Given the description of an element on the screen output the (x, y) to click on. 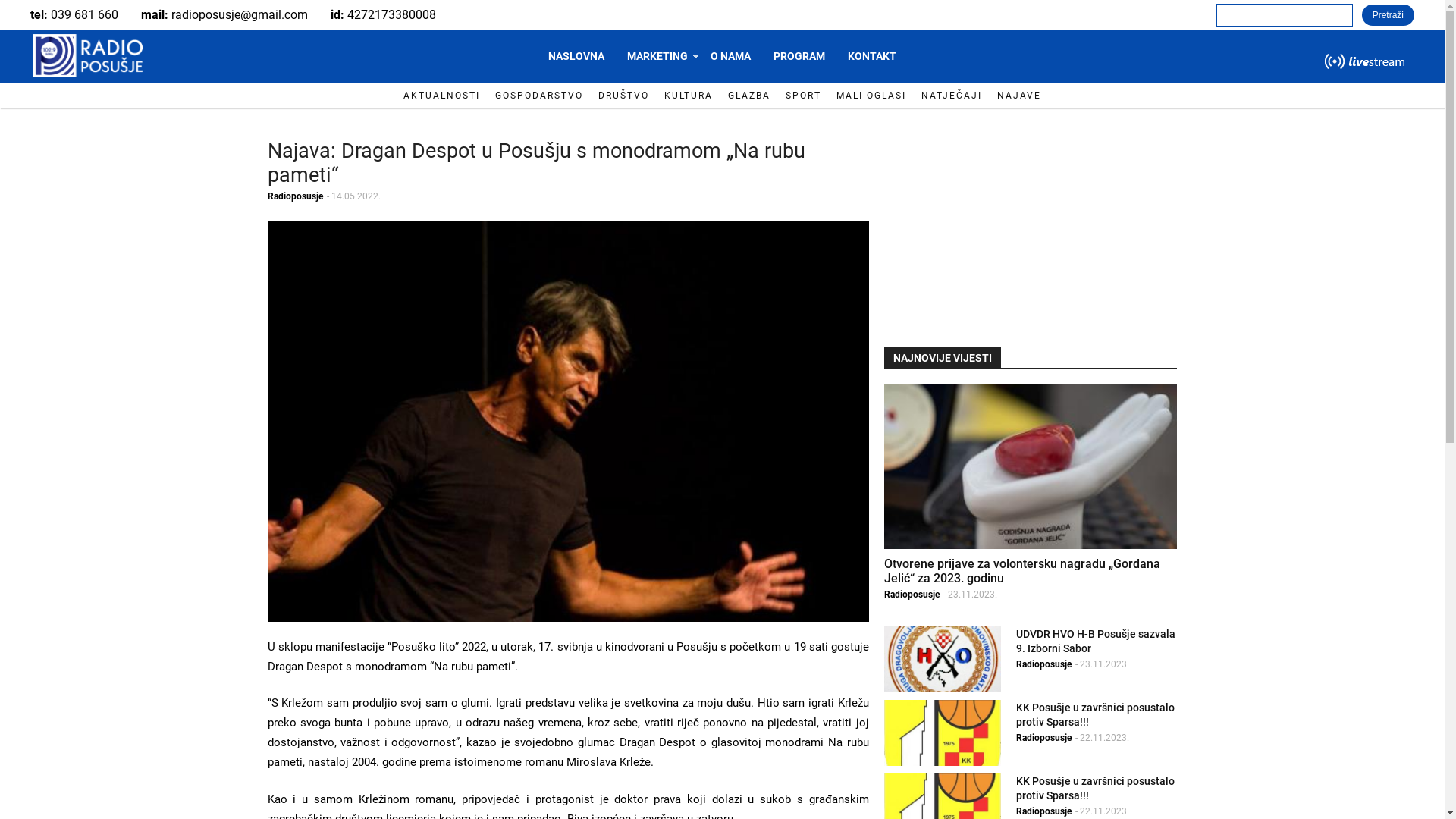
GLAZBA Element type: text (749, 95)
KULTURA Element type: text (688, 95)
NASLOVNA Element type: text (575, 55)
MALI OGLASI Element type: text (870, 95)
NAJAVE Element type: text (1018, 95)
PROGRAM Element type: text (799, 55)
AKTUALNOSTI Element type: text (441, 95)
GOSPODARSTVO Element type: text (538, 95)
O NAMA Element type: text (730, 55)
SPORT Element type: text (803, 95)
Advertisement Element type: hover (1030, 225)
KONTAKT Element type: text (871, 55)
